Given the description of an element on the screen output the (x, y) to click on. 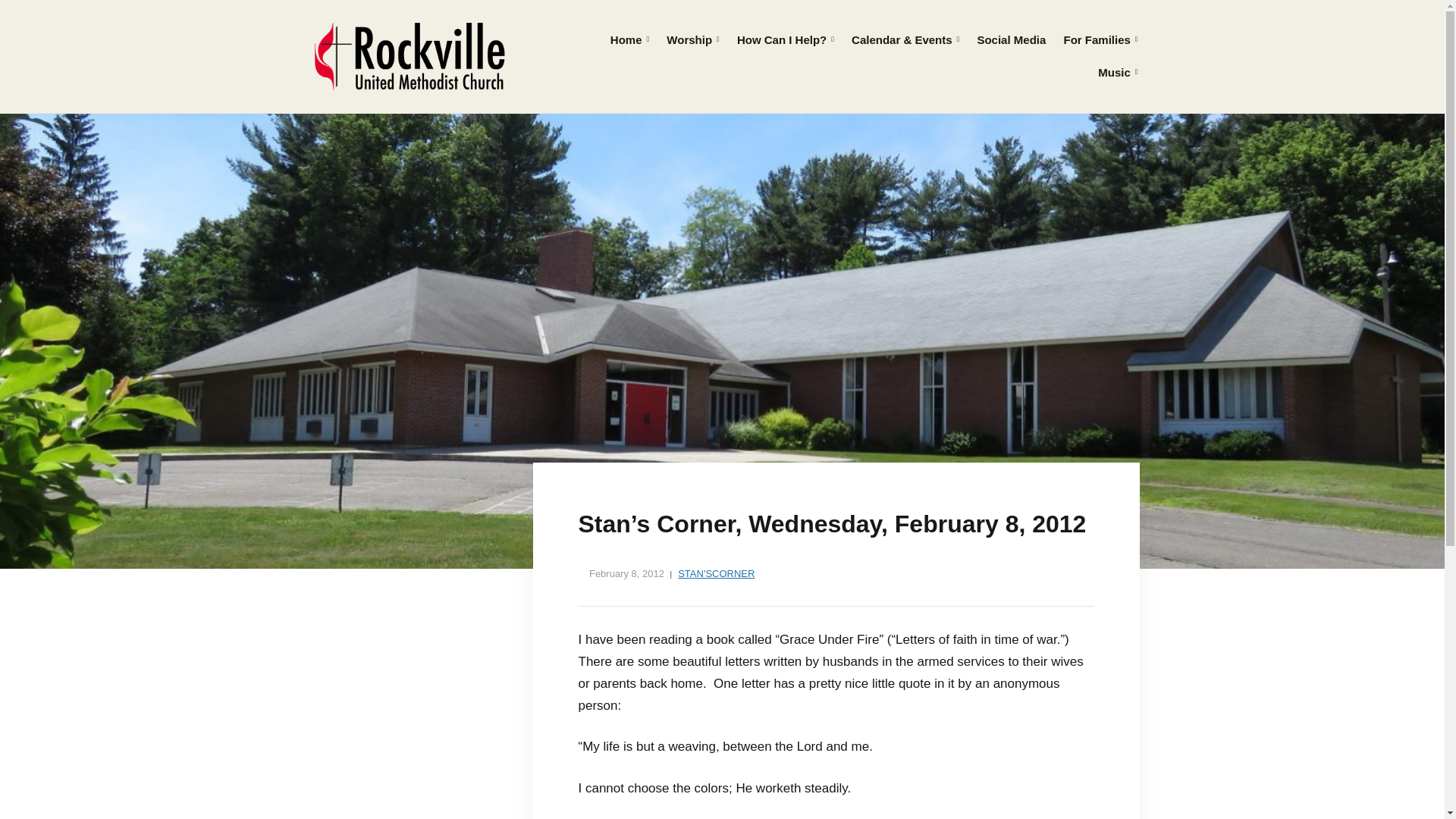
Home (629, 40)
